Given the description of an element on the screen output the (x, y) to click on. 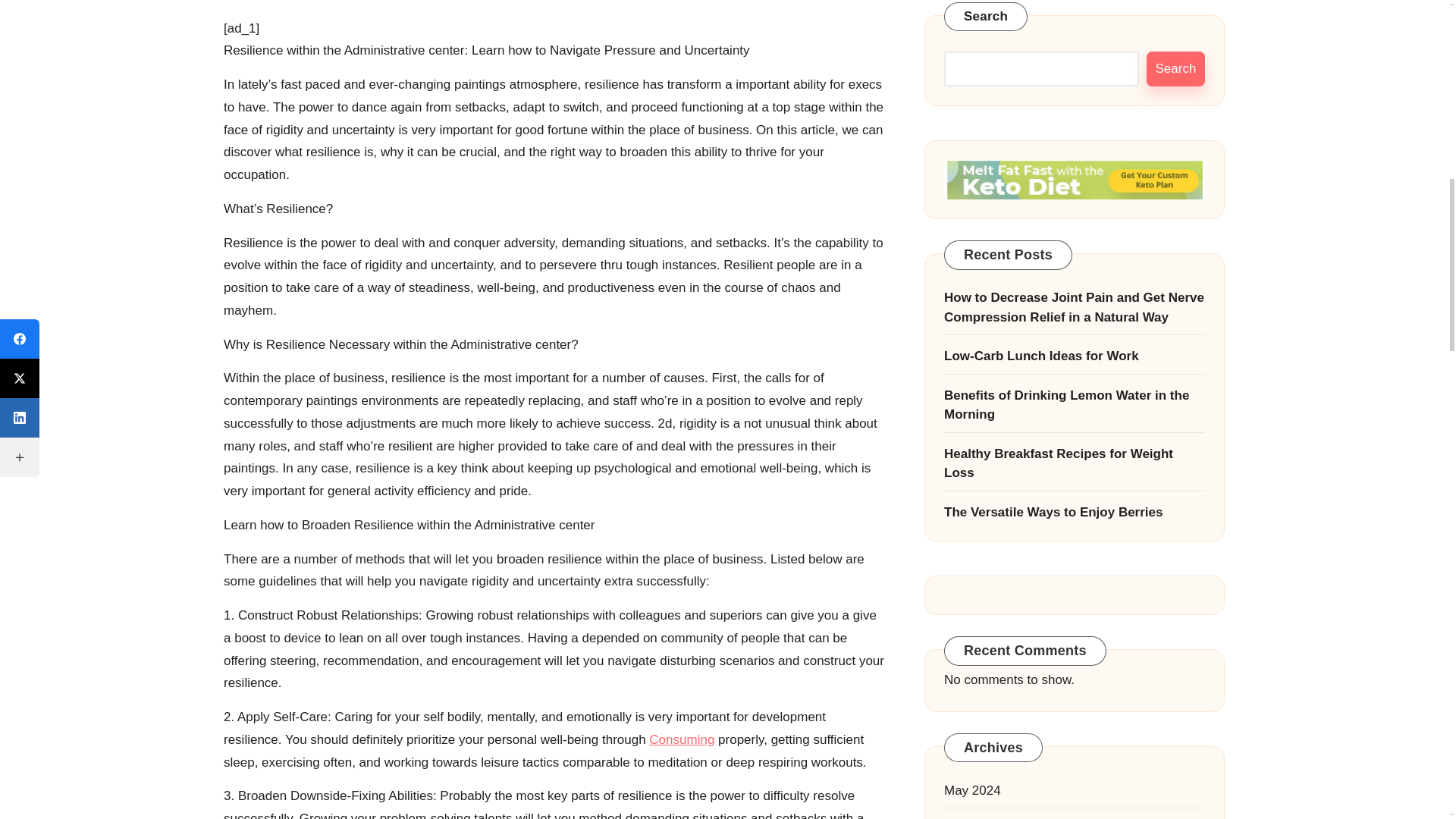
Consuming (681, 739)
April 2024 (1074, 168)
February 2024 (1074, 239)
May 2024 (1074, 134)
March 2024 (1074, 204)
January 2024 (1074, 275)
